Given the description of an element on the screen output the (x, y) to click on. 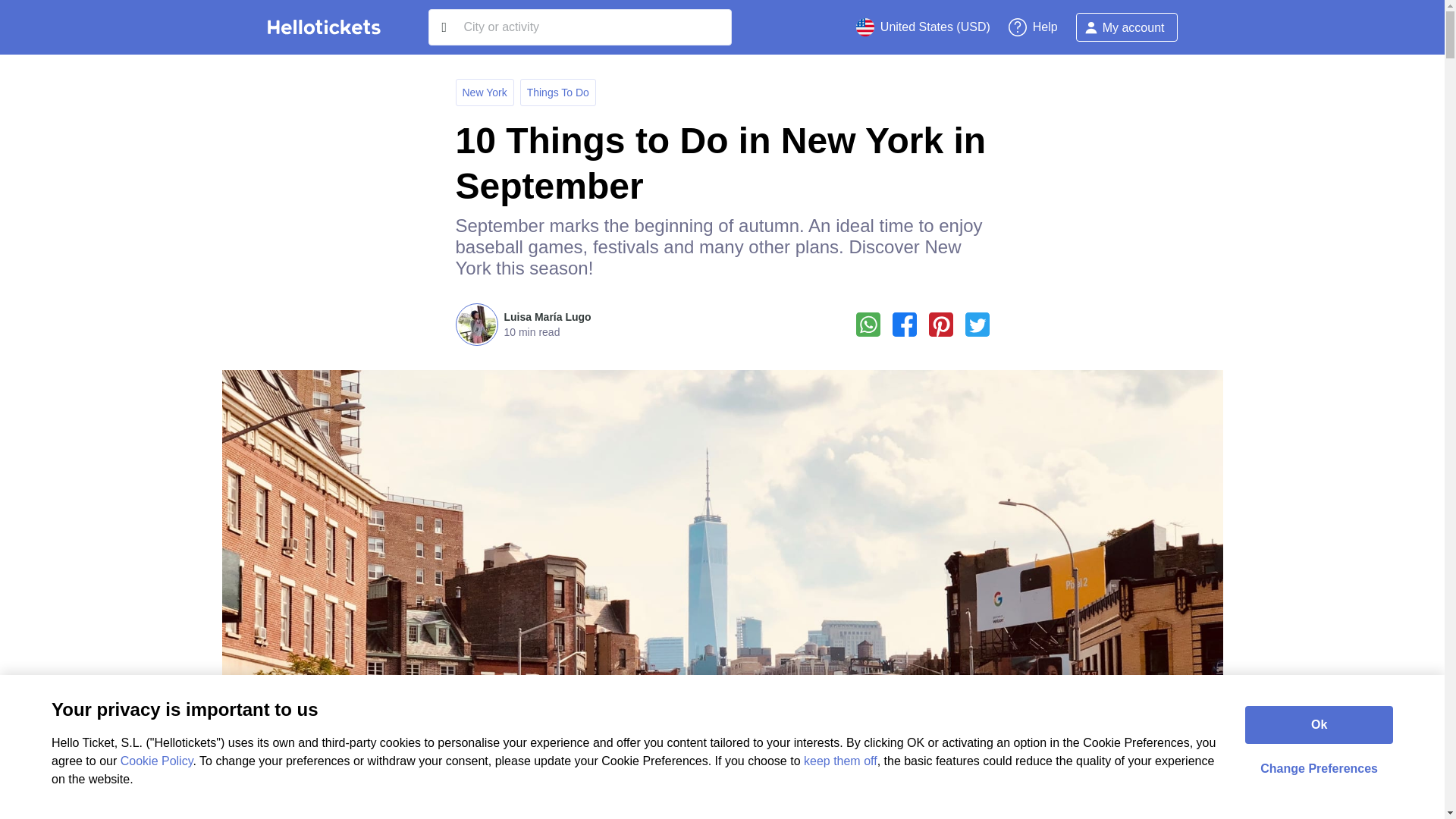
Help (1032, 27)
New York (485, 92)
Things To Do (558, 92)
My account (1126, 27)
